Given the description of an element on the screen output the (x, y) to click on. 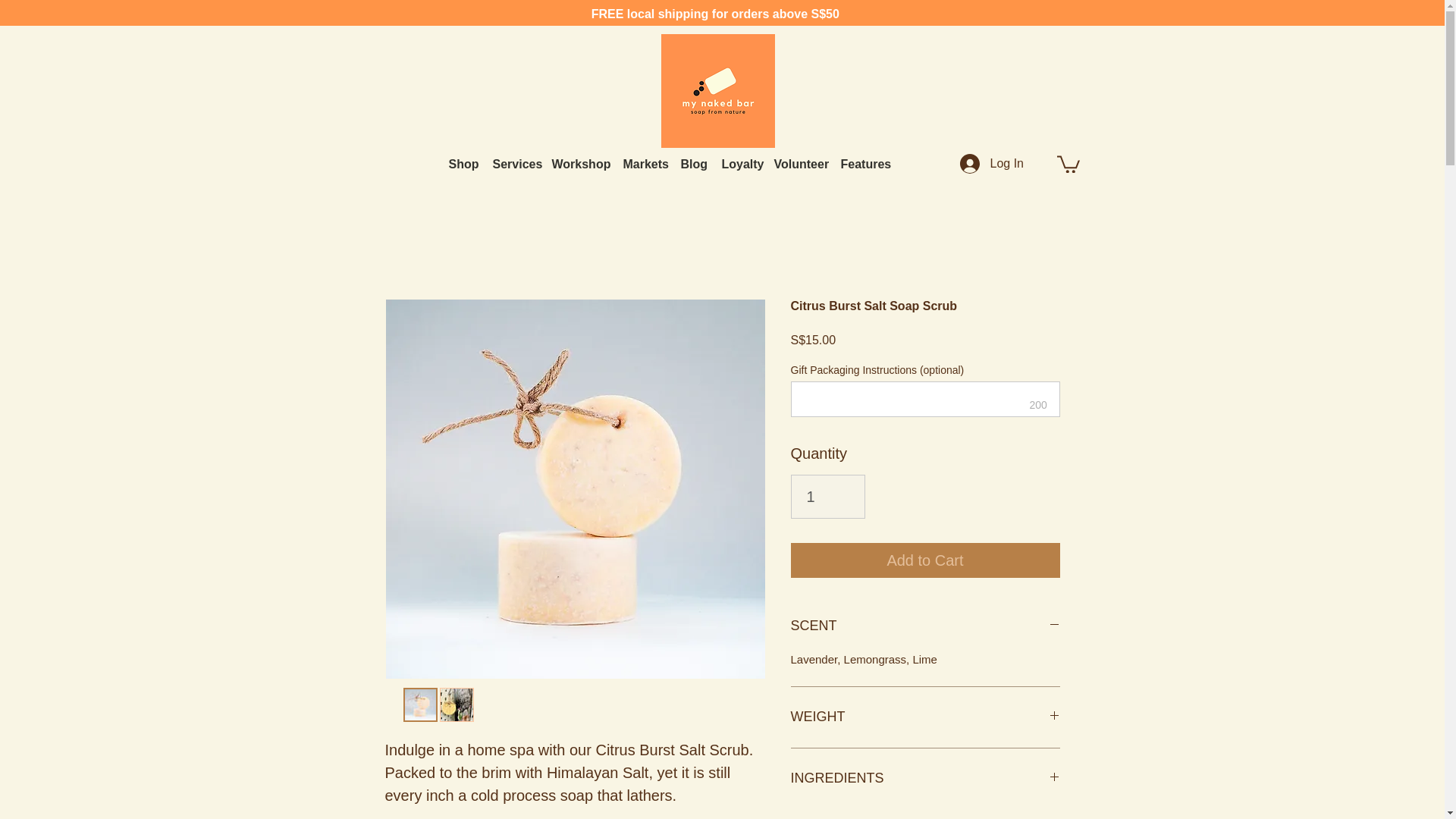
Loyalty (740, 162)
Workshop (579, 162)
Add to Cart (924, 560)
Markets (643, 162)
WEIGHT (924, 717)
Features (862, 162)
Services (514, 162)
Blog (693, 162)
Shop (462, 162)
Log In (970, 163)
INGREDIENTS (924, 778)
Volunteer (798, 162)
1 (827, 496)
SCENT (924, 626)
